Given the description of an element on the screen output the (x, y) to click on. 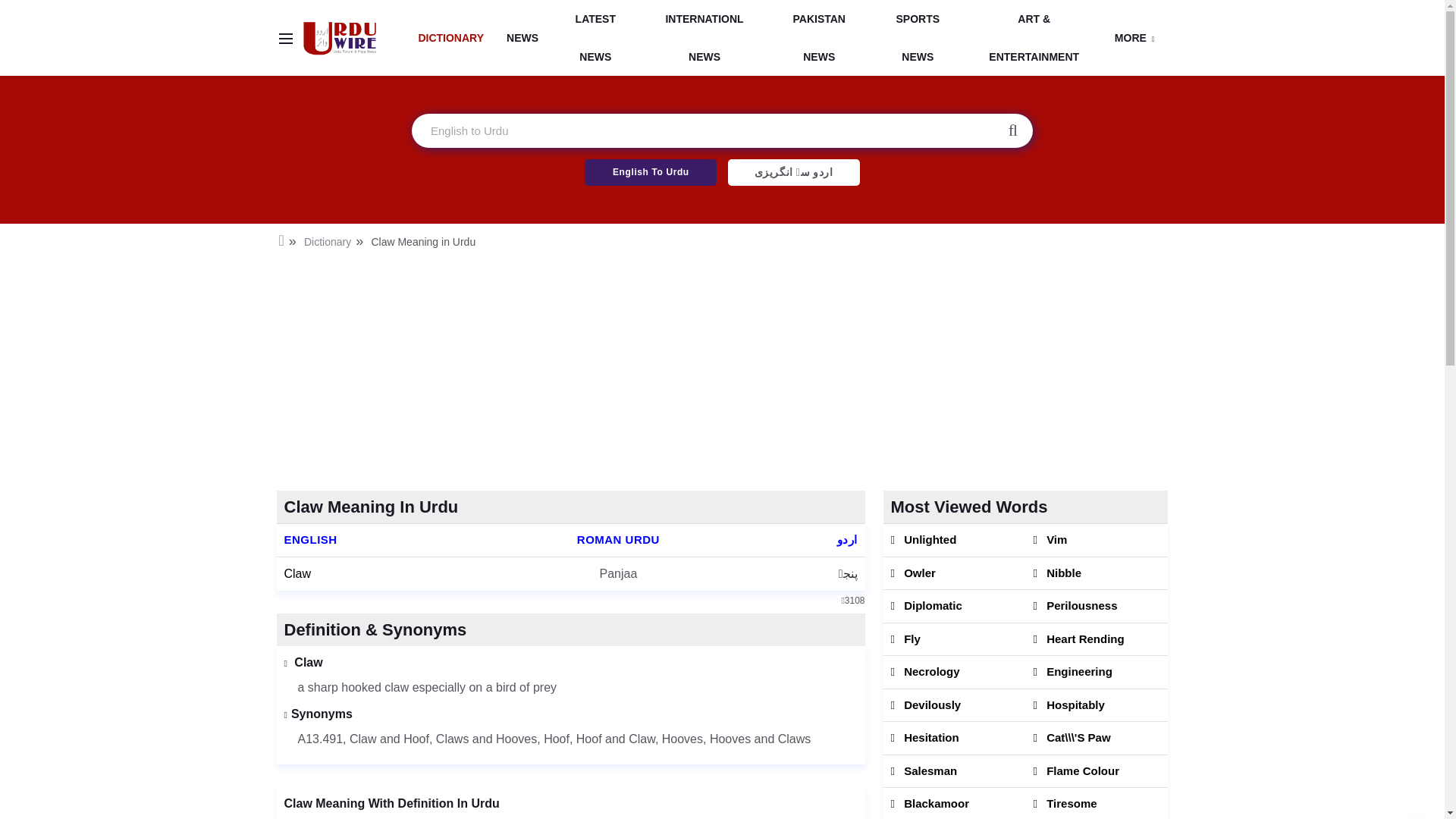
English To Urdu (650, 171)
PAKISTAN NEWS (818, 38)
NEWS (522, 37)
SPORTS NEWS (917, 38)
MORE (1134, 37)
LATEST NEWS (596, 38)
Hoof (556, 738)
DICTIONARY (450, 37)
Dictionary (327, 241)
Claw (297, 573)
INTERNATIONL NEWS (705, 38)
